Given the description of an element on the screen output the (x, y) to click on. 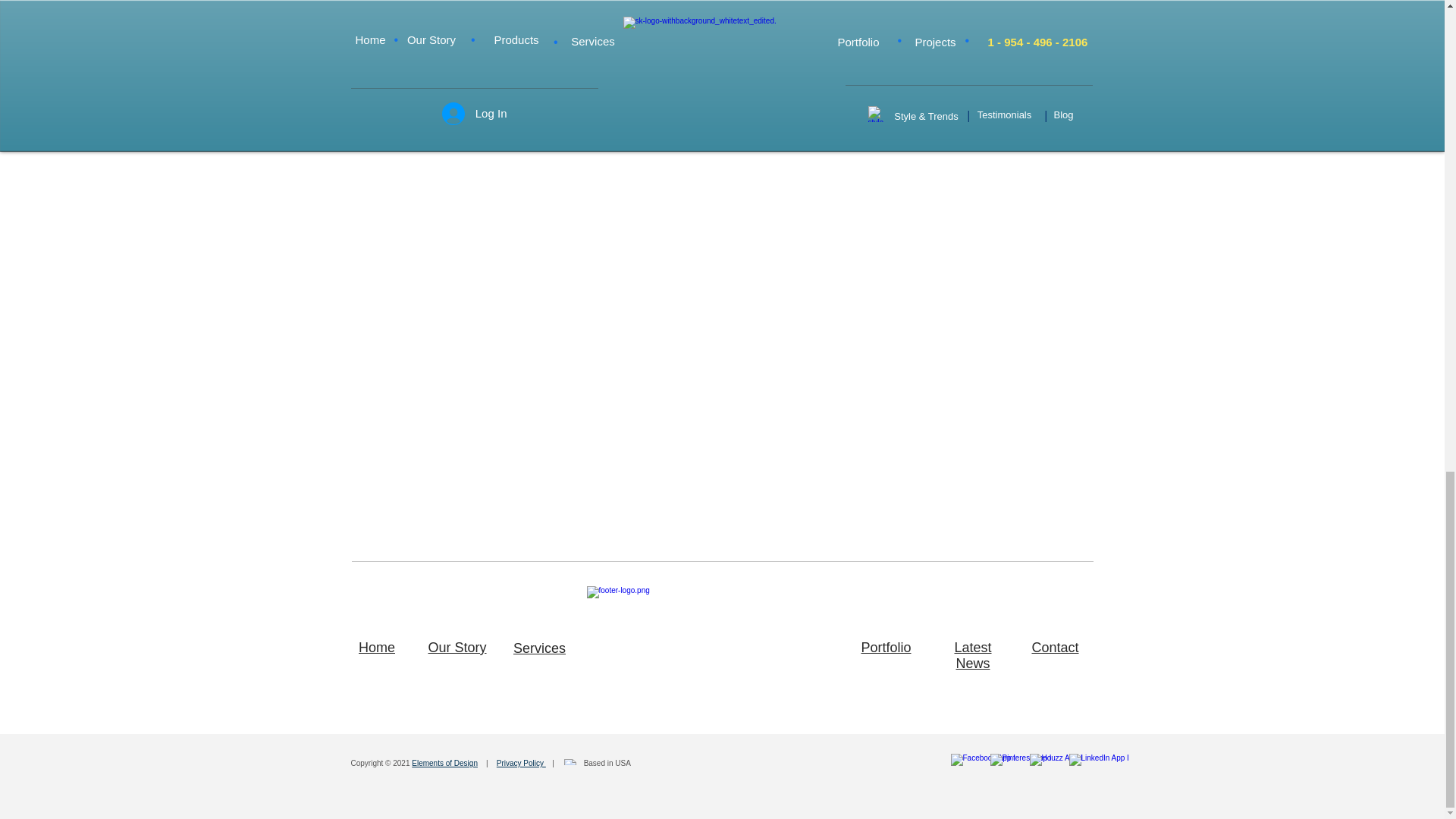
Latest News (972, 654)
Portfolio (885, 647)
Home (376, 647)
Privacy Policy (521, 763)
Elements of Design (444, 763)
Our Story (457, 647)
Services (539, 648)
Contact (1054, 647)
